Given the description of an element on the screen output the (x, y) to click on. 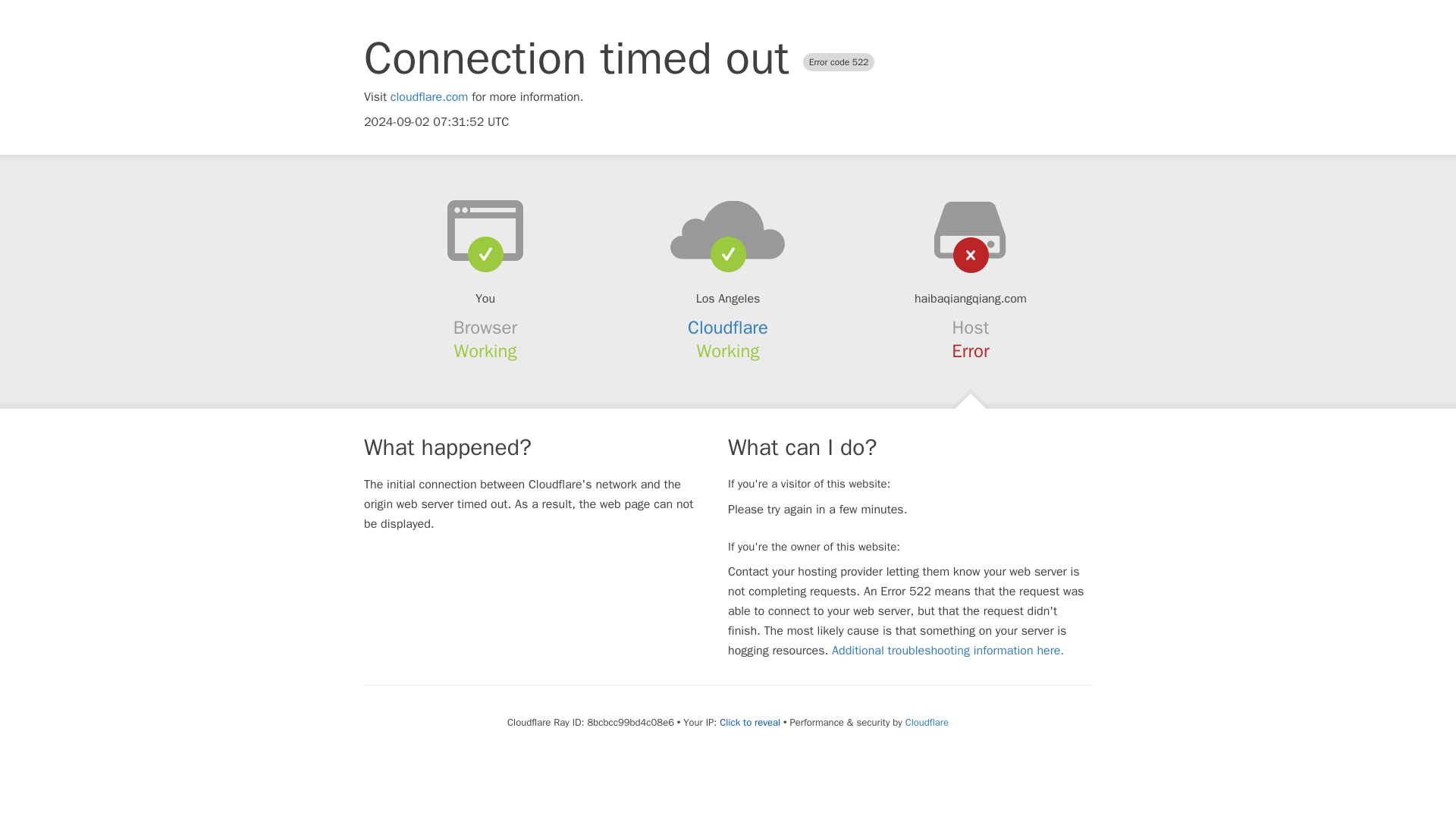
cloudflare.com (429, 96)
Cloudflare (727, 327)
Click to reveal (749, 722)
Cloudflare (927, 721)
Additional troubleshooting information here. (947, 650)
